Given the description of an element on the screen output the (x, y) to click on. 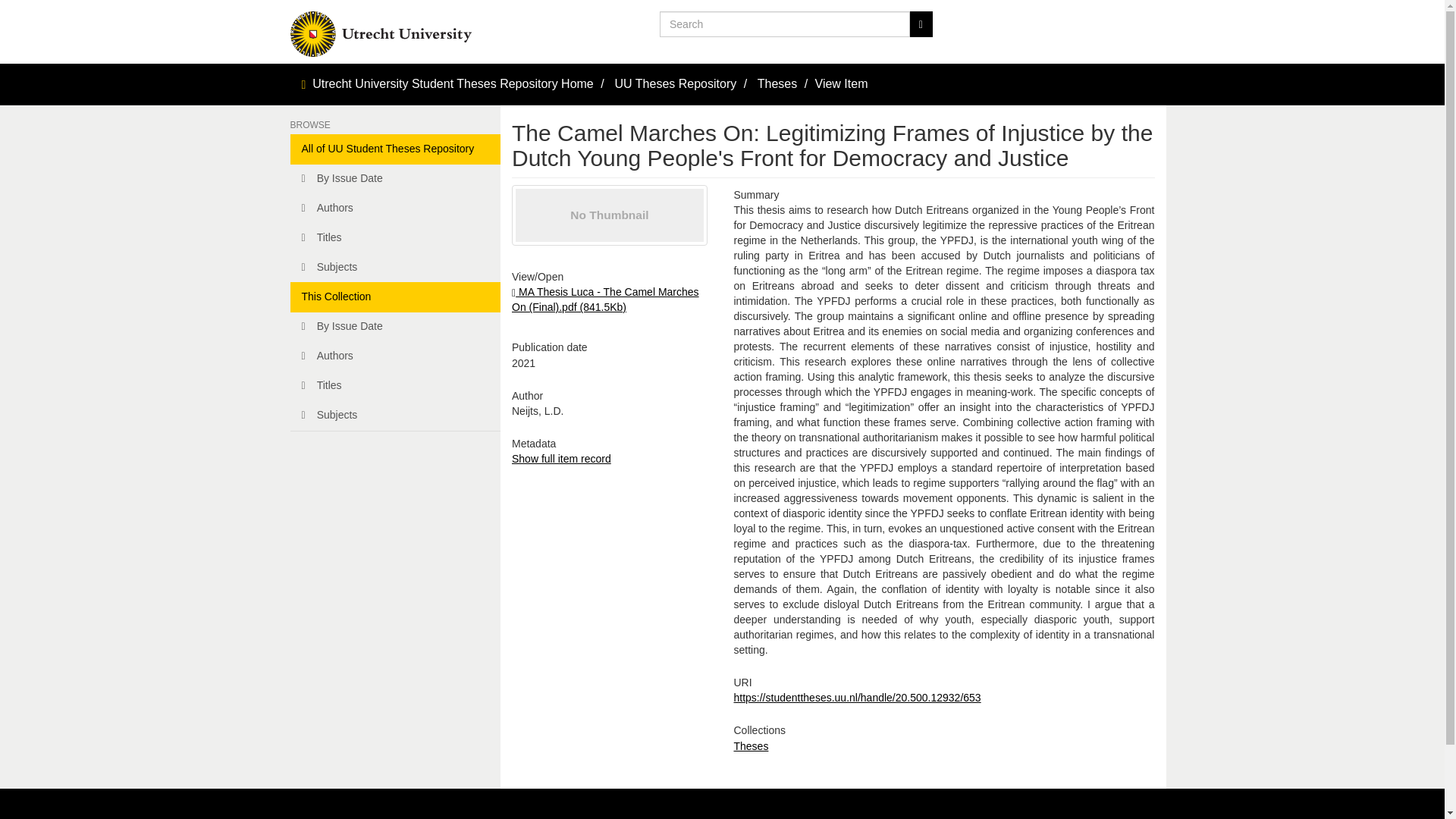
Subjects (394, 267)
Authors (394, 208)
Authors (394, 356)
Show full item record (561, 458)
By Issue Date (394, 327)
Go (920, 23)
By Issue Date (394, 178)
Subjects (394, 415)
This Collection (394, 296)
Theses (750, 746)
